Given the description of an element on the screen output the (x, y) to click on. 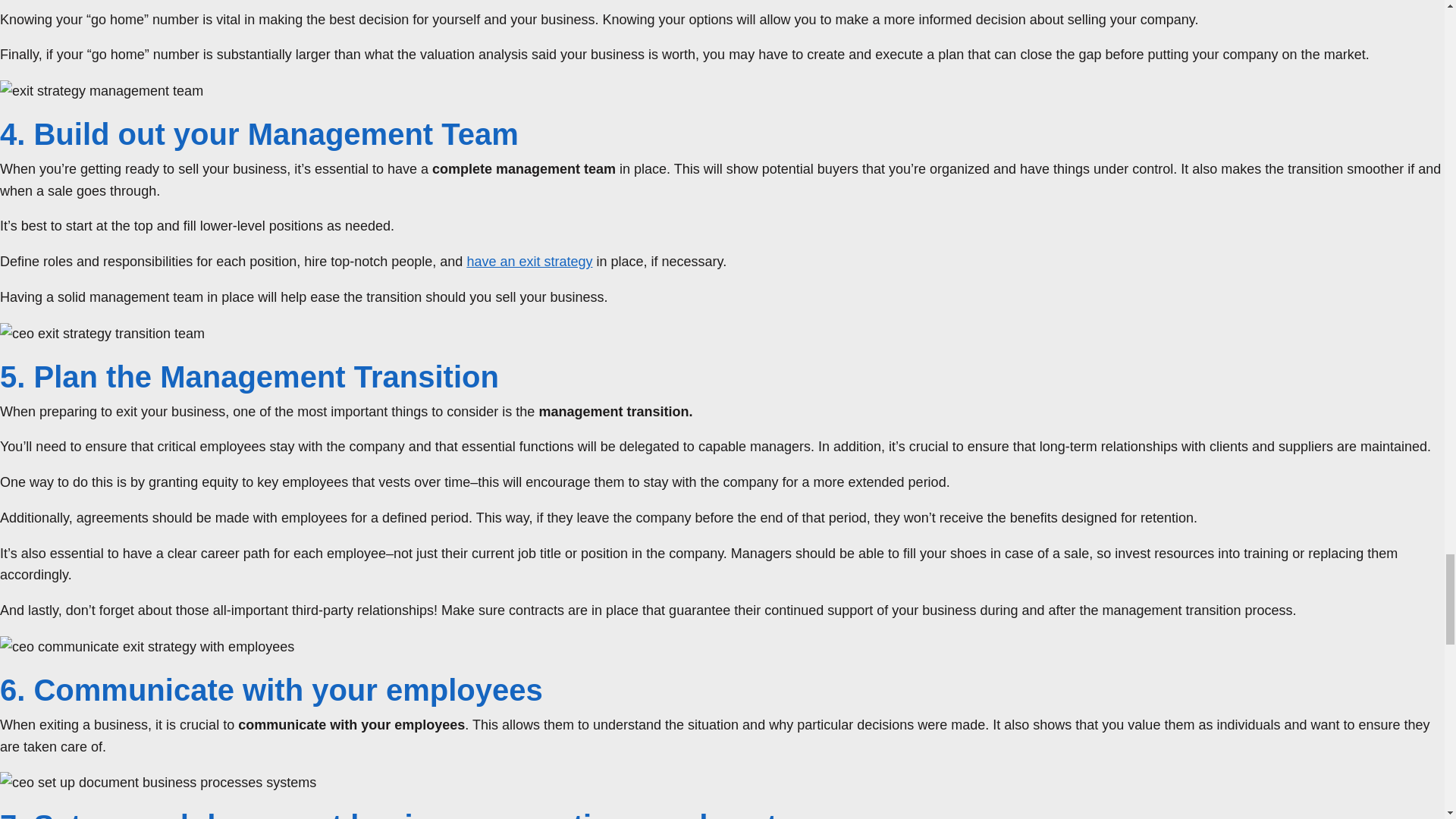
have an exit strategy (528, 261)
ceo set up document business processes systems (157, 782)
ceo exit strategy transition team (102, 333)
ceo communicate exit strategy with employees (147, 647)
exit strategy management team (101, 91)
